Given the description of an element on the screen output the (x, y) to click on. 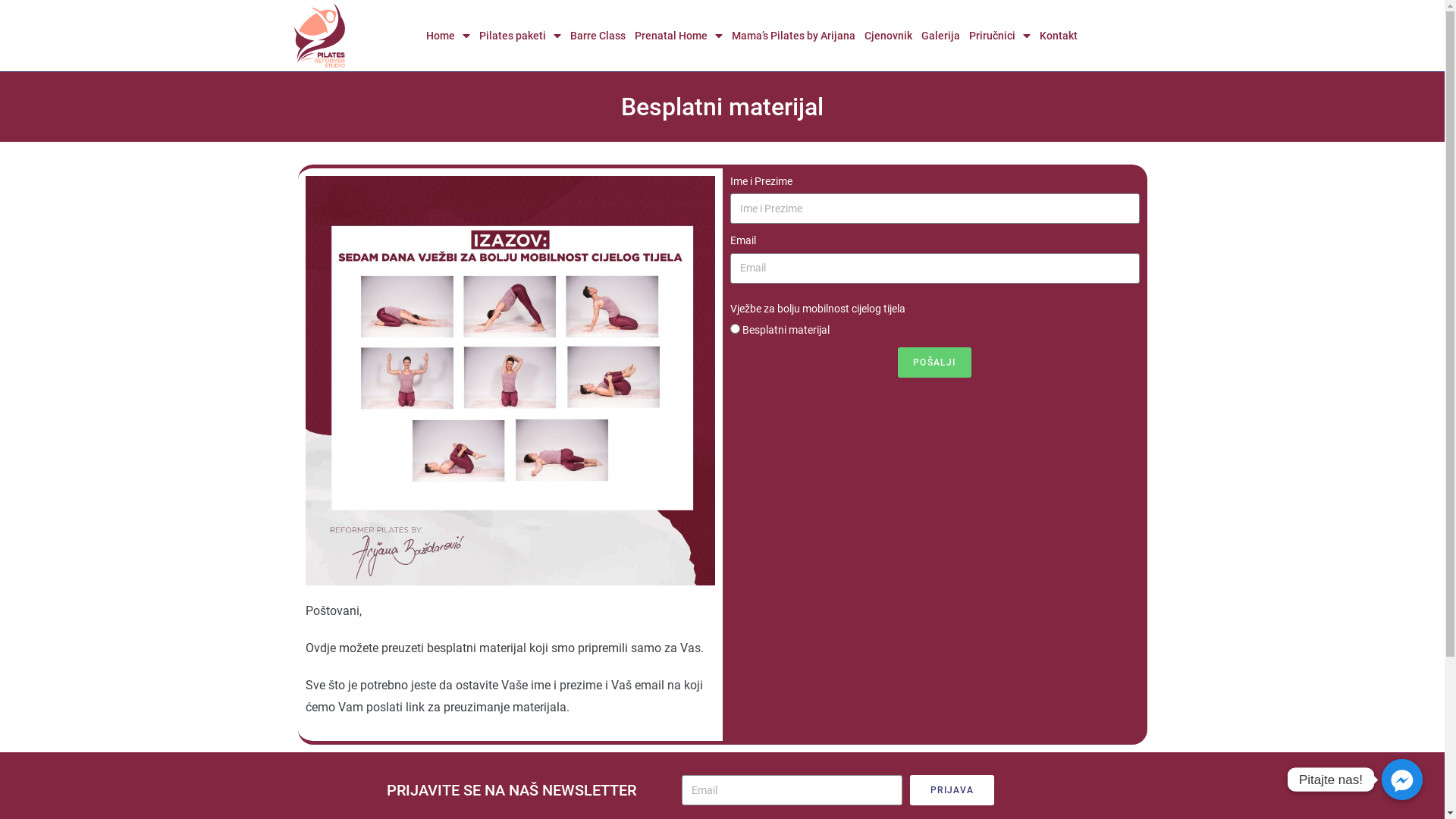
Cjenovnik Element type: text (887, 35)
Home Element type: text (447, 35)
Kontakt Element type: text (1058, 35)
Pilates paketi Element type: text (519, 35)
Barre Class Element type: text (597, 35)
PRIJAVA Element type: text (952, 790)
Prenatal Home Element type: text (678, 35)
Pitajte nas! Element type: text (1401, 779)
Galerija Element type: text (940, 35)
